Given the description of an element on the screen output the (x, y) to click on. 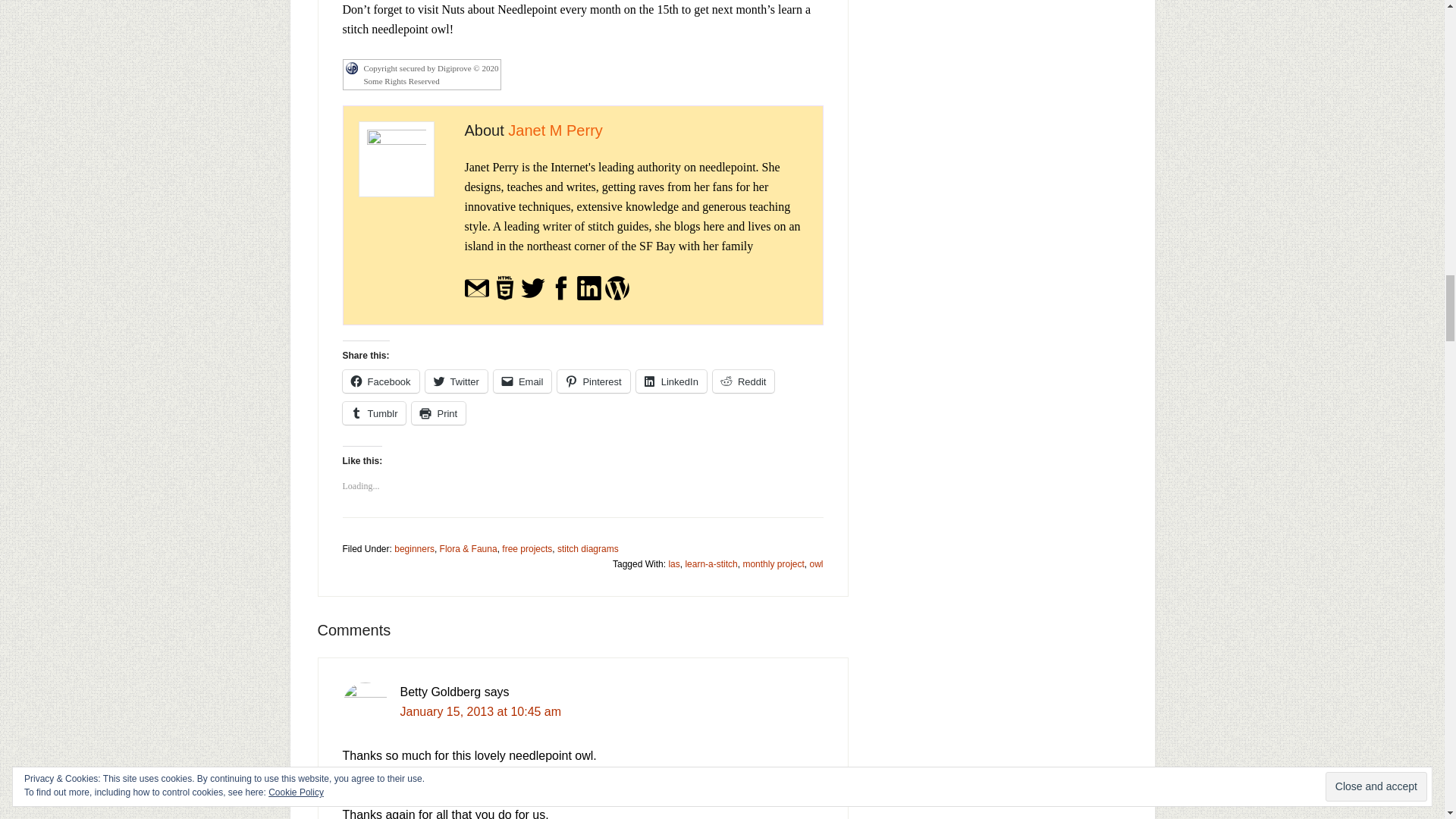
Janet M Perry On LinkedIn (587, 296)
Janet M Perry On The Web (504, 296)
Janet M Perry On Twitter (531, 296)
Click to share on Tumblr (374, 413)
Janet M Perry (555, 130)
Click to share on Facebook (380, 381)
Janet M Perry On Facebook (560, 296)
Click to share on Reddit (743, 381)
Click to share on Pinterest (592, 381)
Click to share on LinkedIn (671, 381)
